Given the description of an element on the screen output the (x, y) to click on. 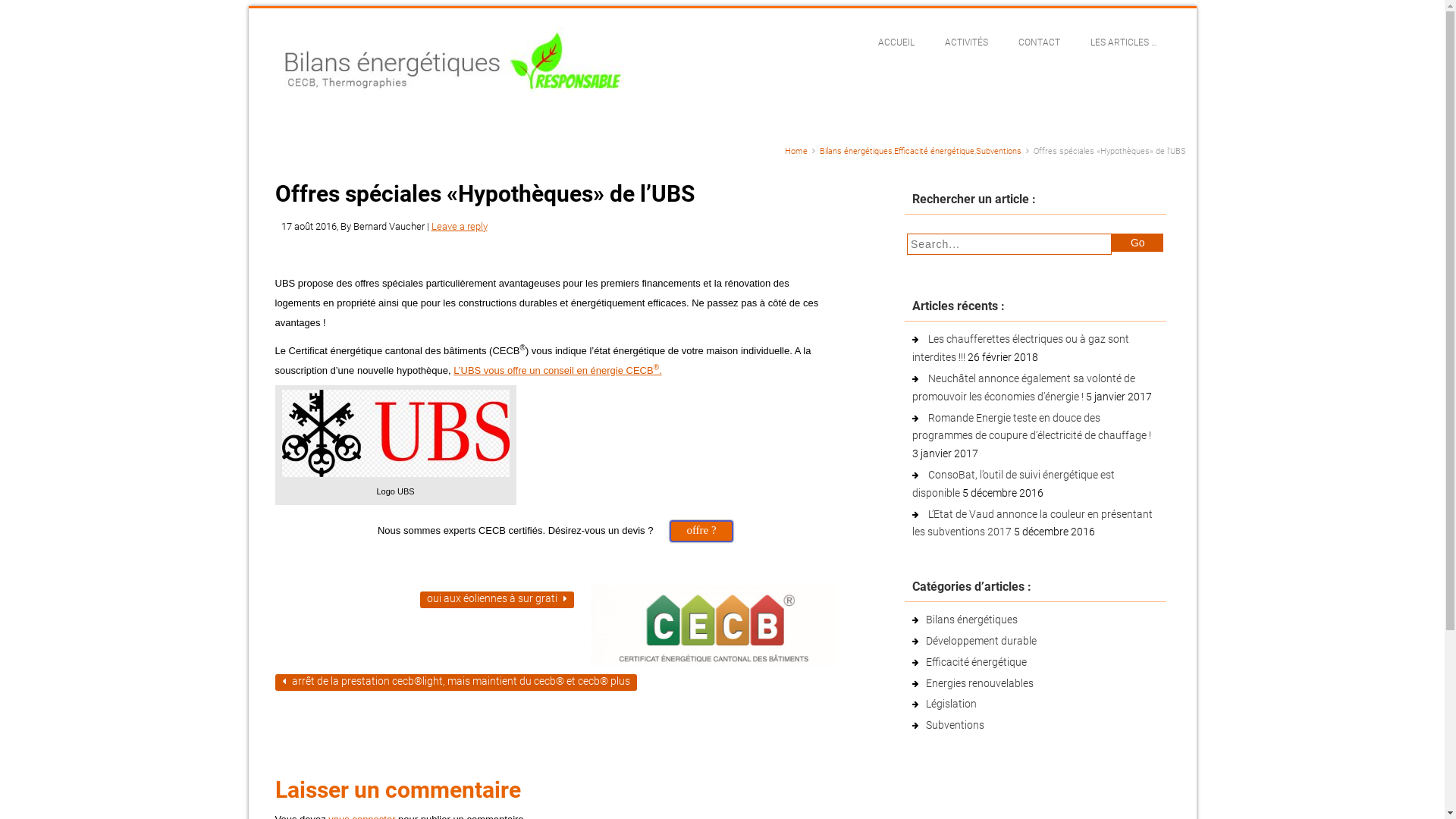
offre ? Element type: text (701, 531)
ACCUEIL Element type: text (895, 42)
Leave a reply Element type: text (458, 226)
CONTACT Element type: text (1039, 42)
Subventions Element type: text (997, 151)
Home Element type: text (795, 151)
Subventions Element type: text (954, 724)
Go Element type: text (1137, 242)
Energies renouvelables Element type: text (978, 683)
